Given the description of an element on the screen output the (x, y) to click on. 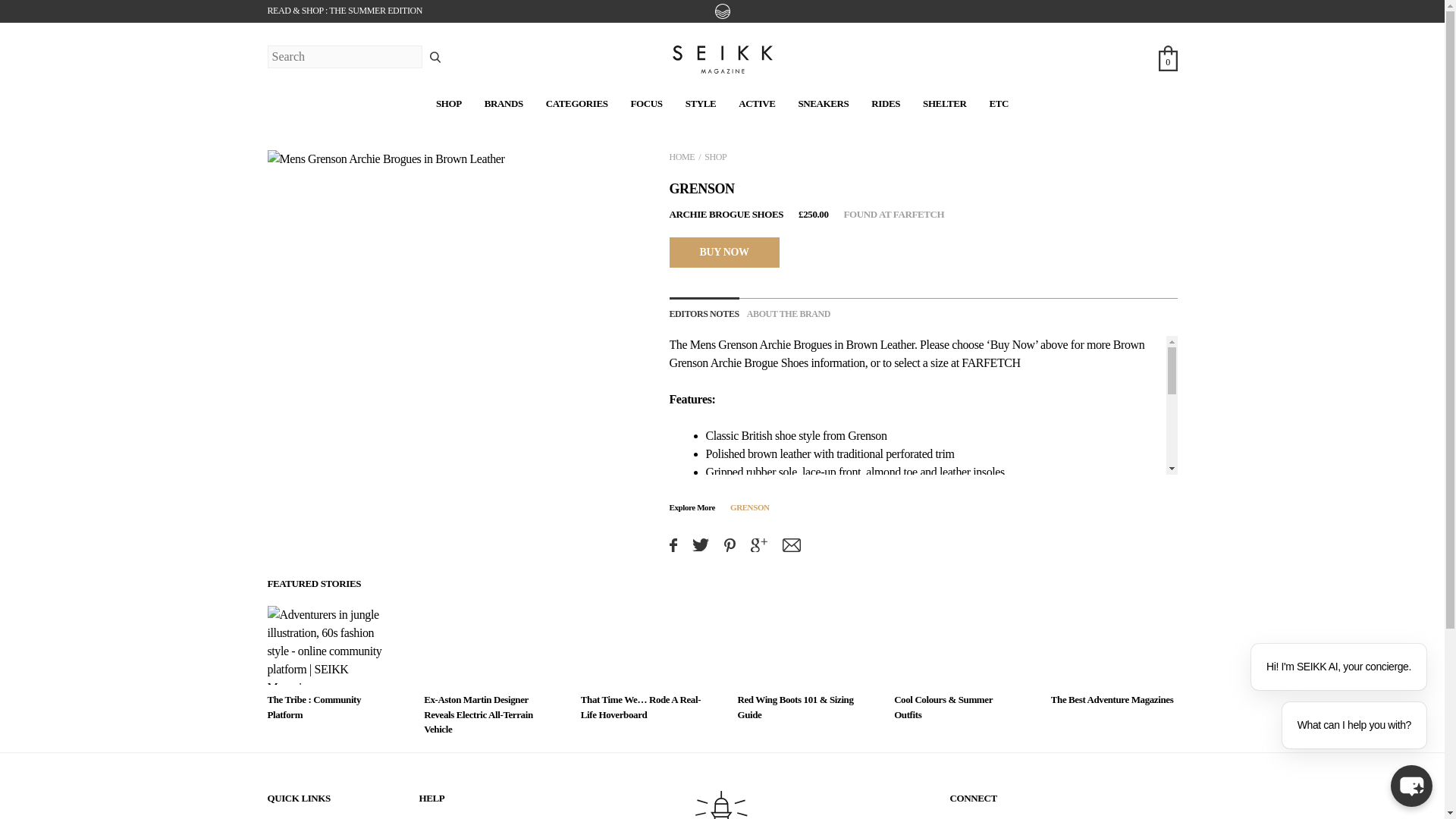
RIDES (884, 102)
STYLE (700, 102)
SHELTER (944, 102)
Grenson (737, 344)
ETC (998, 102)
FOCUS (646, 102)
GRENSON (700, 188)
HOME (681, 156)
BRANDS (503, 102)
SNEAKERS (822, 102)
SHOP (715, 156)
SHOP (448, 102)
GRENSON (750, 506)
BUY NOW (723, 251)
CATEGORIES (577, 102)
